Given the description of an element on the screen output the (x, y) to click on. 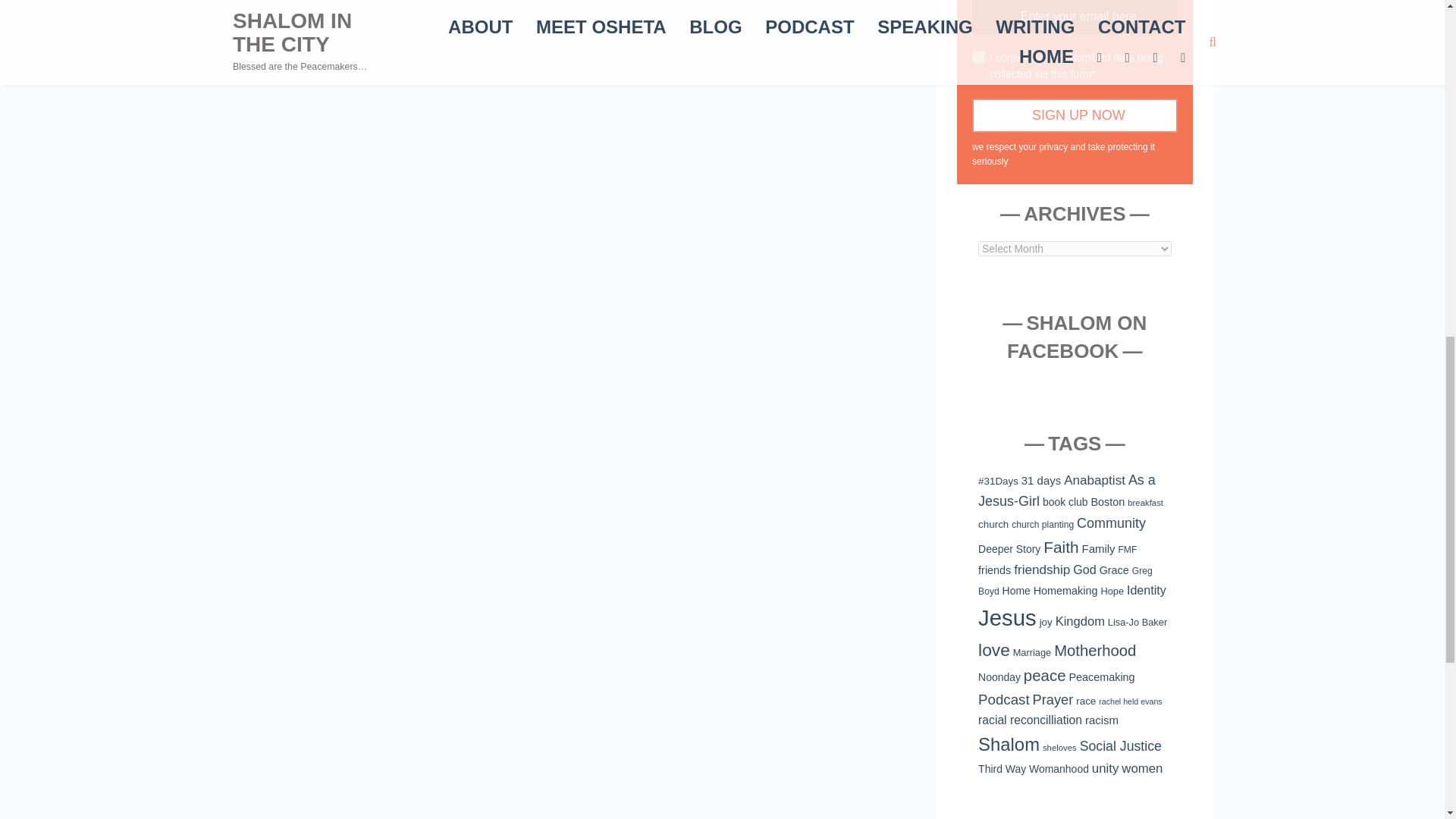
on (978, 56)
Anabaptist (1094, 480)
Sign Up Now (1074, 115)
Sign Up Now (1074, 115)
31 days (1041, 480)
Enter your email here (1074, 17)
